Given the description of an element on the screen output the (x, y) to click on. 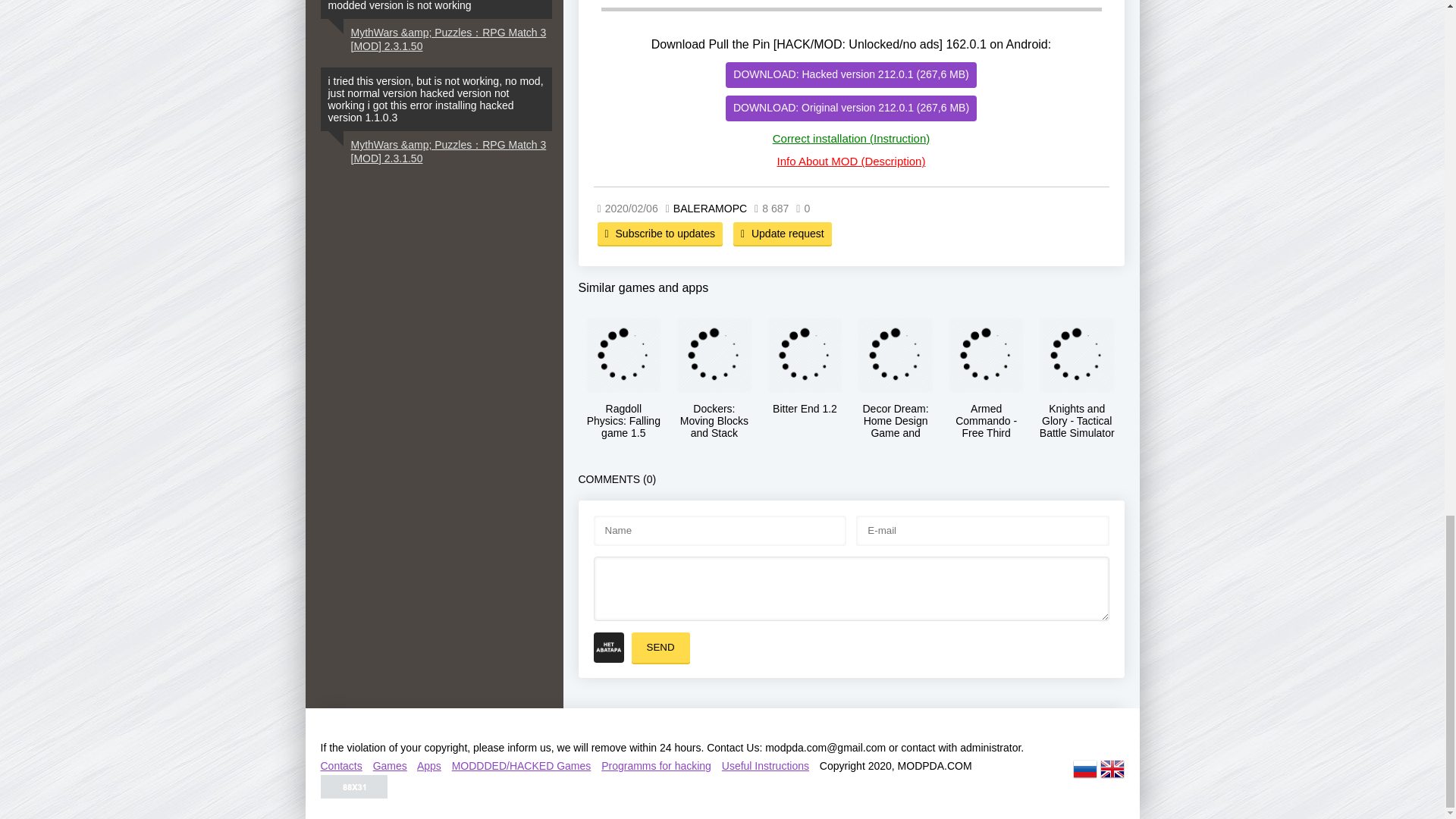
Contacts (340, 766)
SEND (659, 647)
BALERAMOPC (709, 208)
